Given the description of an element on the screen output the (x, y) to click on. 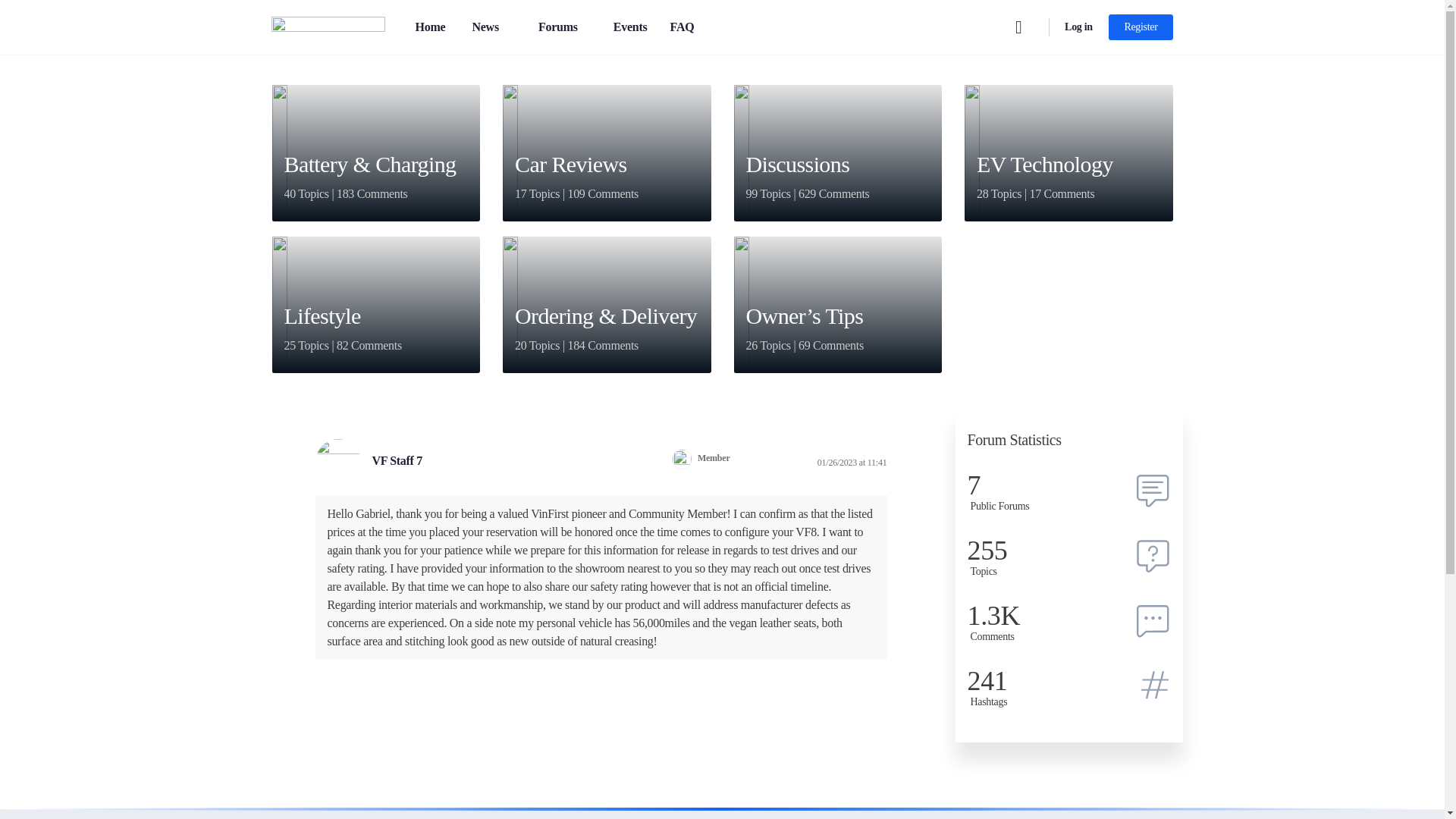
Events (630, 27)
Forums (564, 27)
Log in (1078, 27)
View VF Staff 7 's profile (338, 461)
News (491, 27)
Register (1140, 26)
View VF Staff 7 's profile (400, 459)
Member (681, 457)
